Given the description of an element on the screen output the (x, y) to click on. 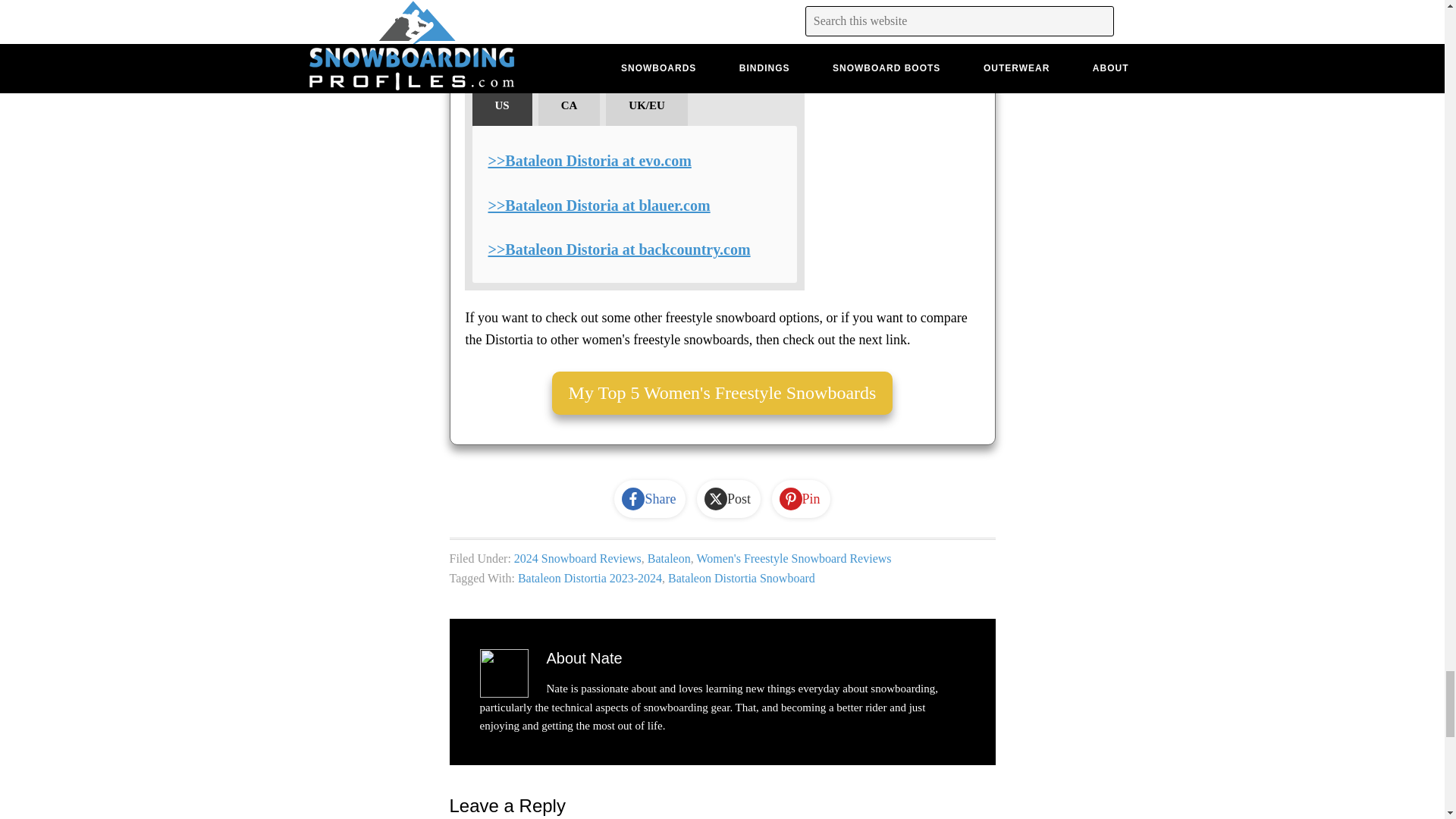
Bataleon Distortia at evo (589, 160)
